Given the description of an element on the screen output the (x, y) to click on. 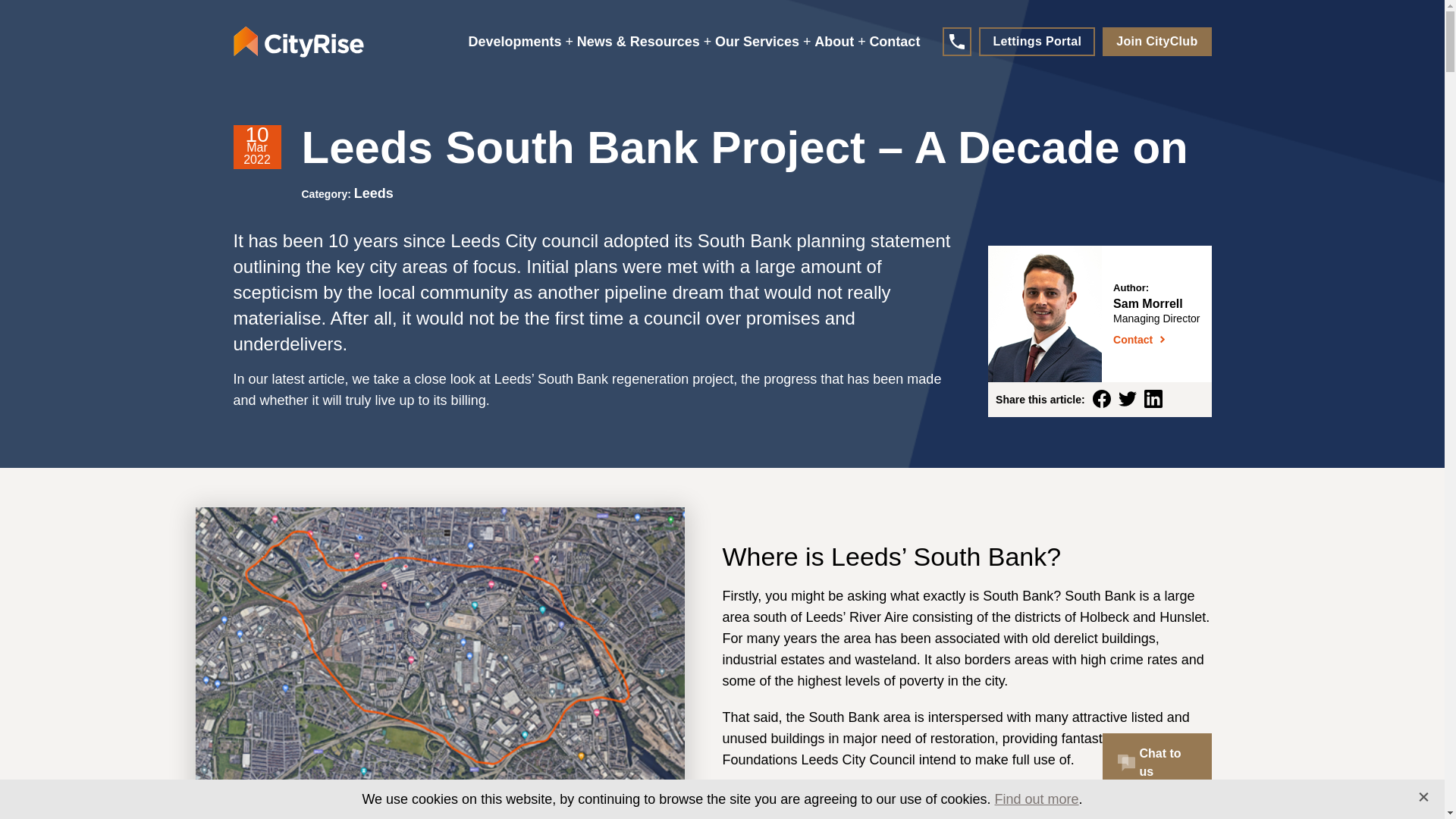
Join CityClub (1156, 41)
LinkedIn (1152, 398)
LinkedIn (1152, 399)
Developments (520, 41)
About (838, 41)
Apply Now (687, 623)
Lettings Portal (1036, 41)
Our Services (762, 41)
Contact (894, 41)
CityRise (298, 40)
